Given the description of an element on the screen output the (x, y) to click on. 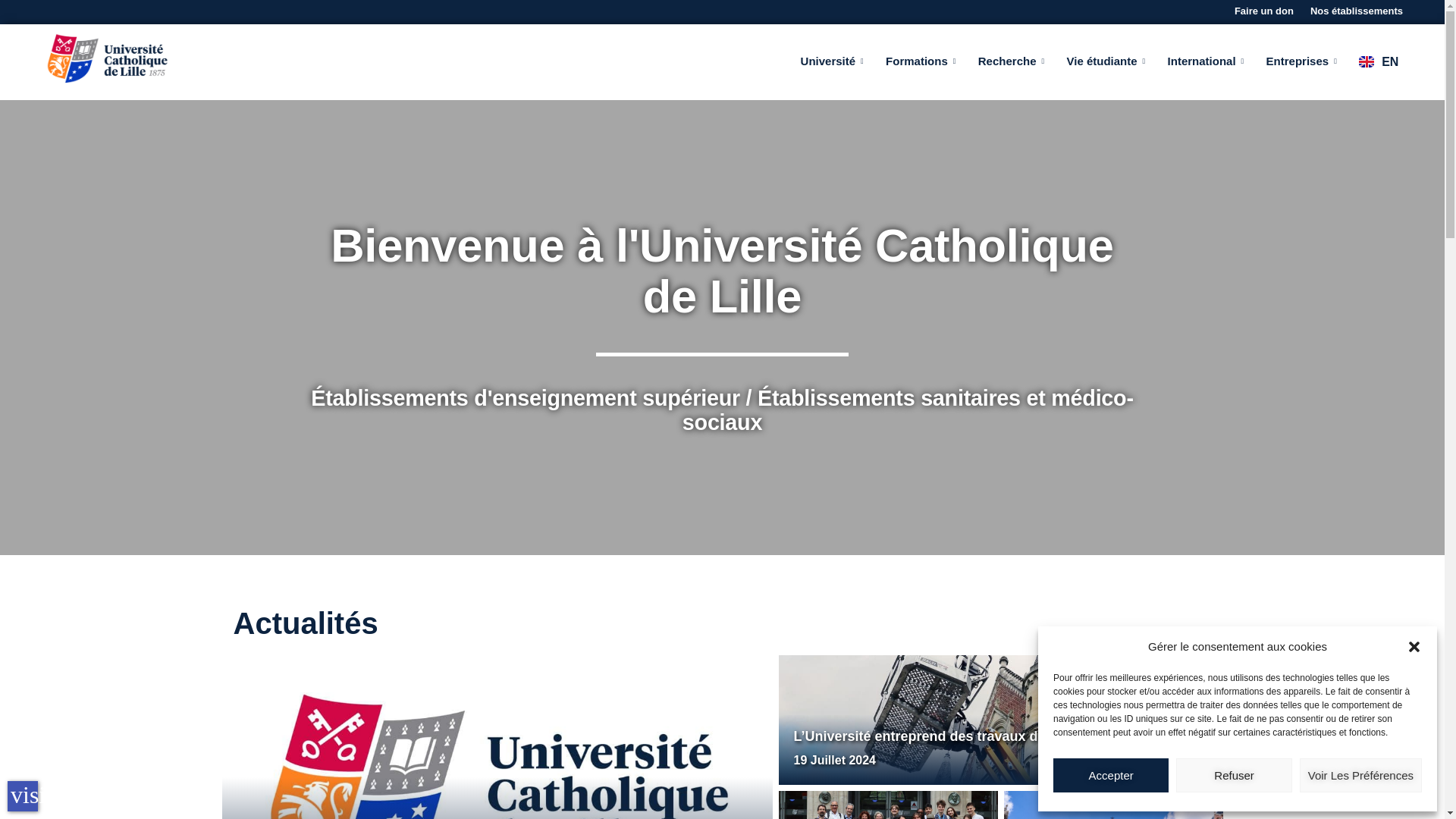
Accepter (1110, 775)
Formations (916, 61)
Refuser (1233, 775)
Faire un don (1264, 12)
